Given the description of an element on the screen output the (x, y) to click on. 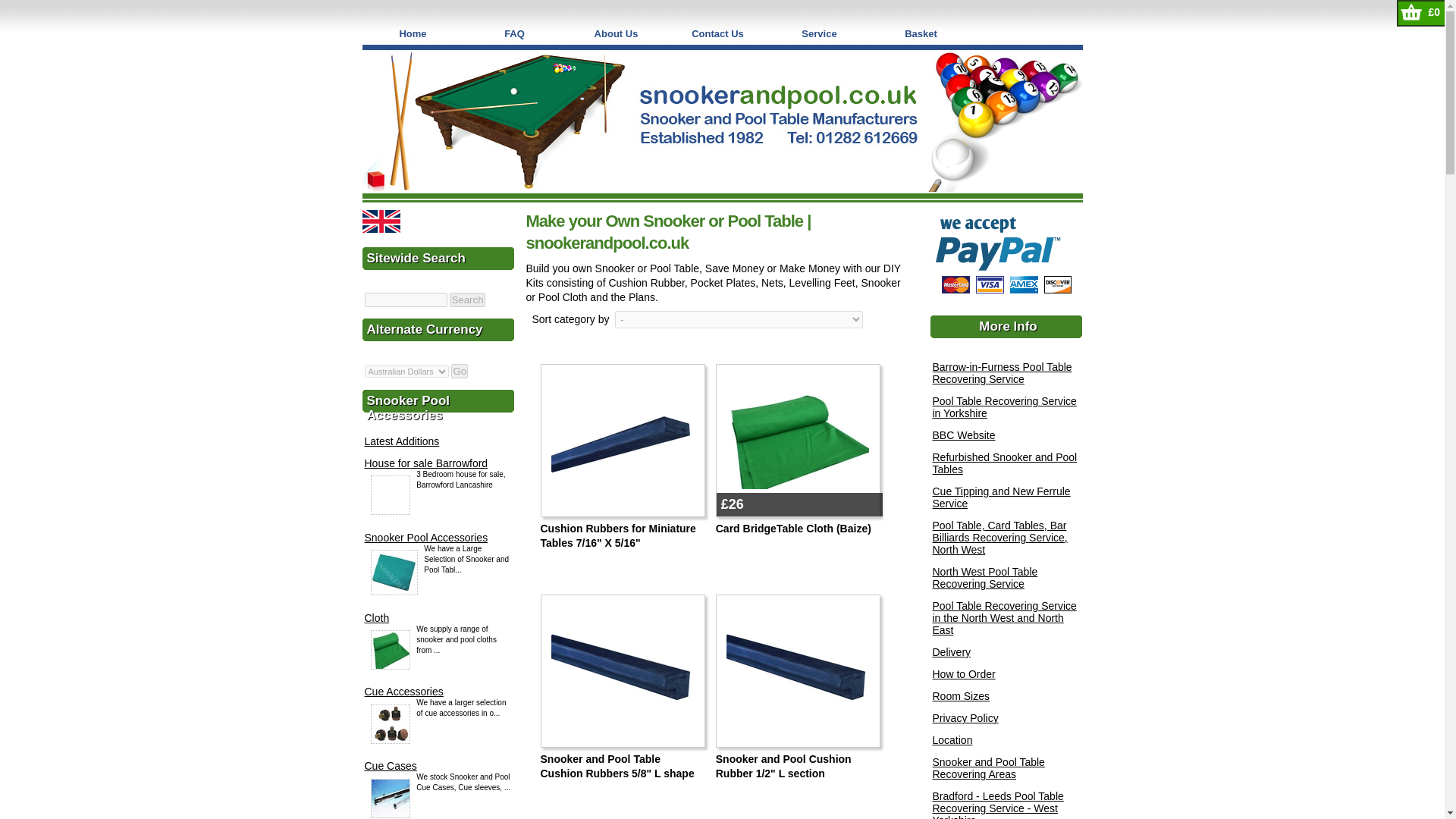
Latest Additions (401, 440)
Contact Us (717, 33)
Go (459, 370)
Cue Cases (390, 766)
About Us (616, 33)
Cloth (376, 617)
Service (819, 33)
Search (466, 299)
Home (413, 33)
Search (466, 299)
Cue Accessories (403, 691)
Basket (921, 33)
Go (459, 370)
FAQ (515, 33)
Snooker Pool Accessories (425, 537)
